Given the description of an element on the screen output the (x, y) to click on. 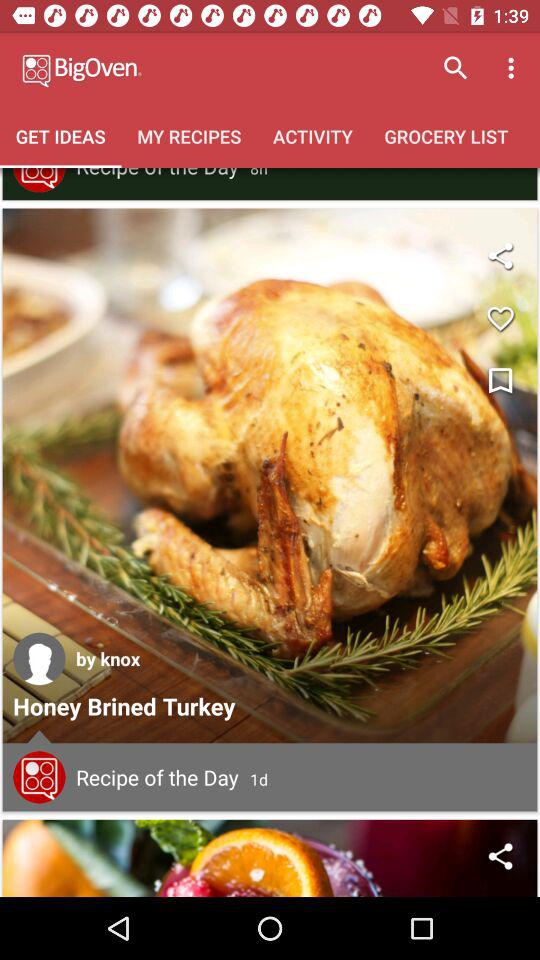
save (500, 318)
